Given the description of an element on the screen output the (x, y) to click on. 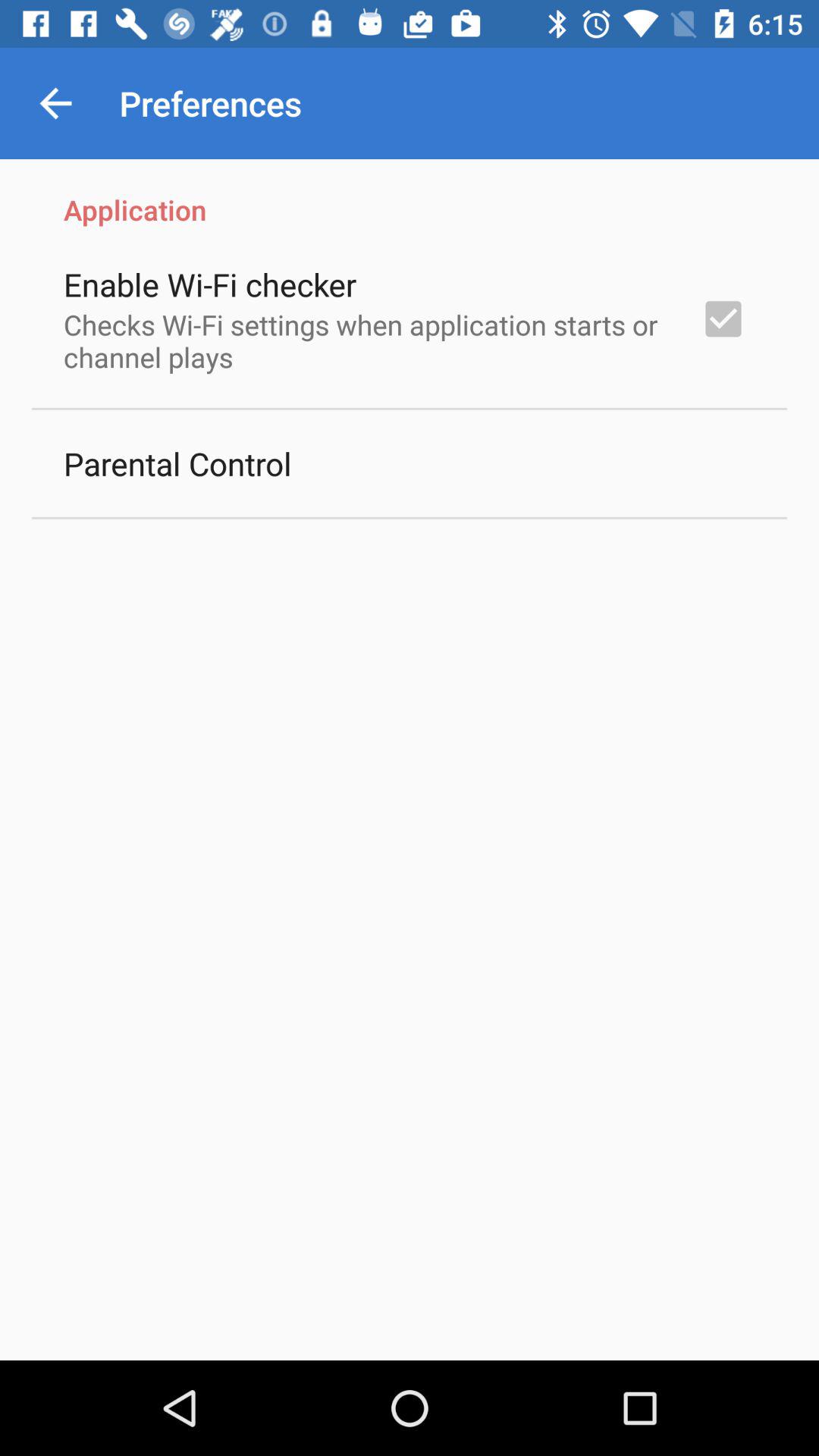
press the item next to checks wi fi icon (723, 318)
